Given the description of an element on the screen output the (x, y) to click on. 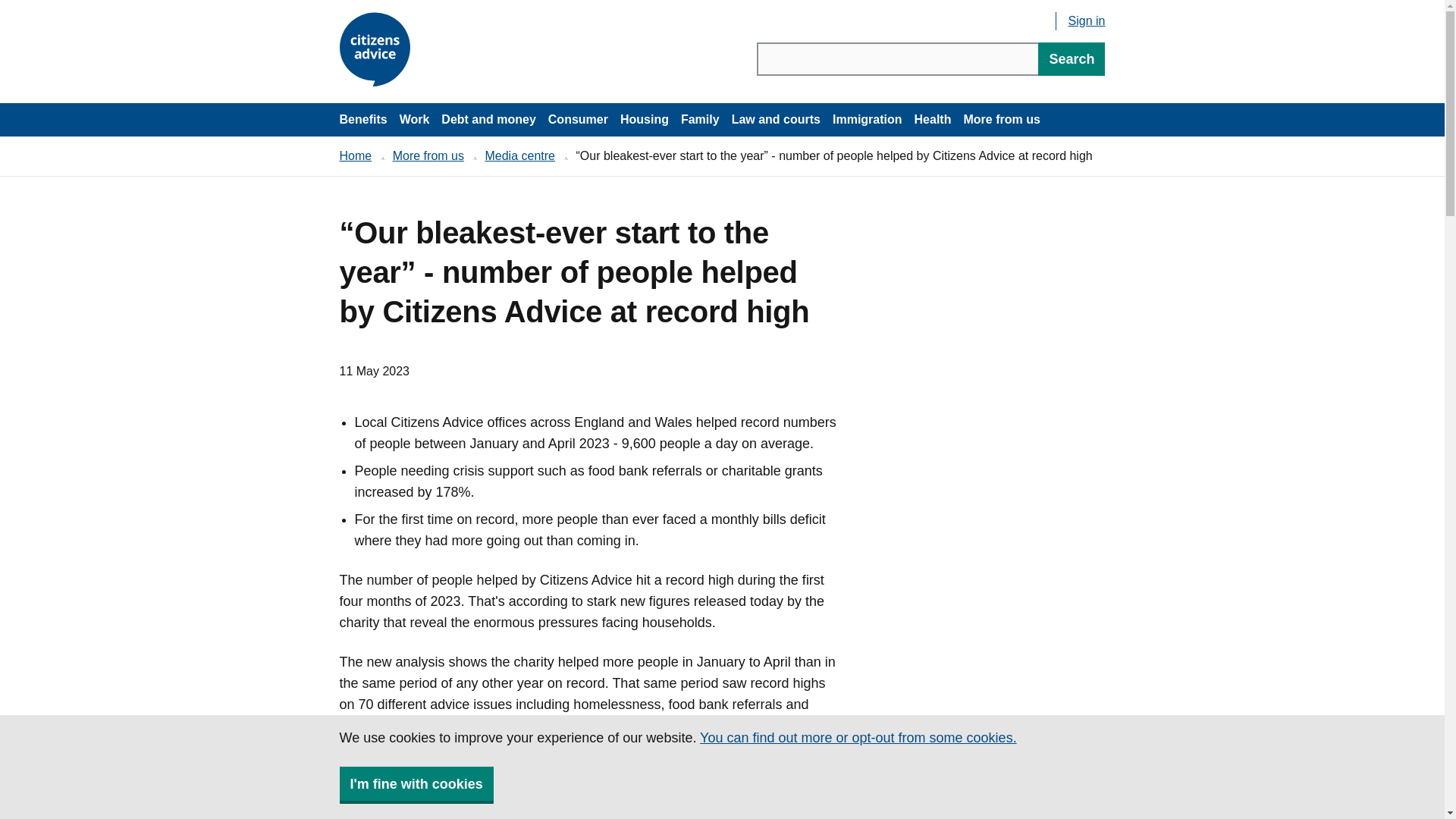
Immigration (867, 119)
You can find out more or opt-out from some cookies. (858, 737)
Media centre (519, 155)
Health (933, 119)
Submit search query (1071, 59)
Benefits (363, 119)
More from us (428, 155)
Debt and money (488, 119)
More from us (1000, 119)
Work (414, 119)
Citizens Advice Homepage (376, 49)
Family (700, 119)
Sign in (1086, 20)
Law and courts (776, 119)
